Given the description of an element on the screen output the (x, y) to click on. 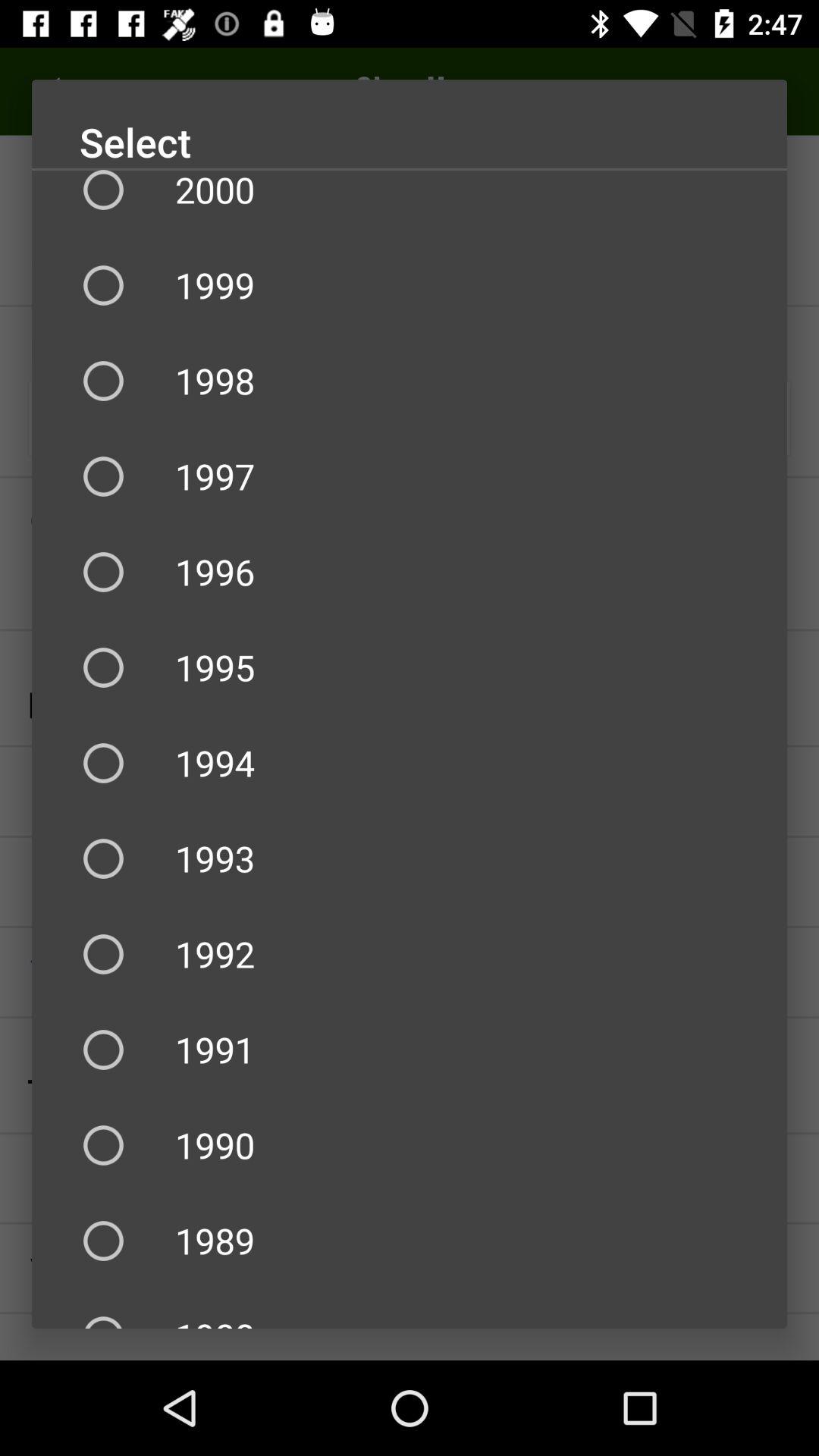
click the icon above 1988 icon (409, 1240)
